Given the description of an element on the screen output the (x, y) to click on. 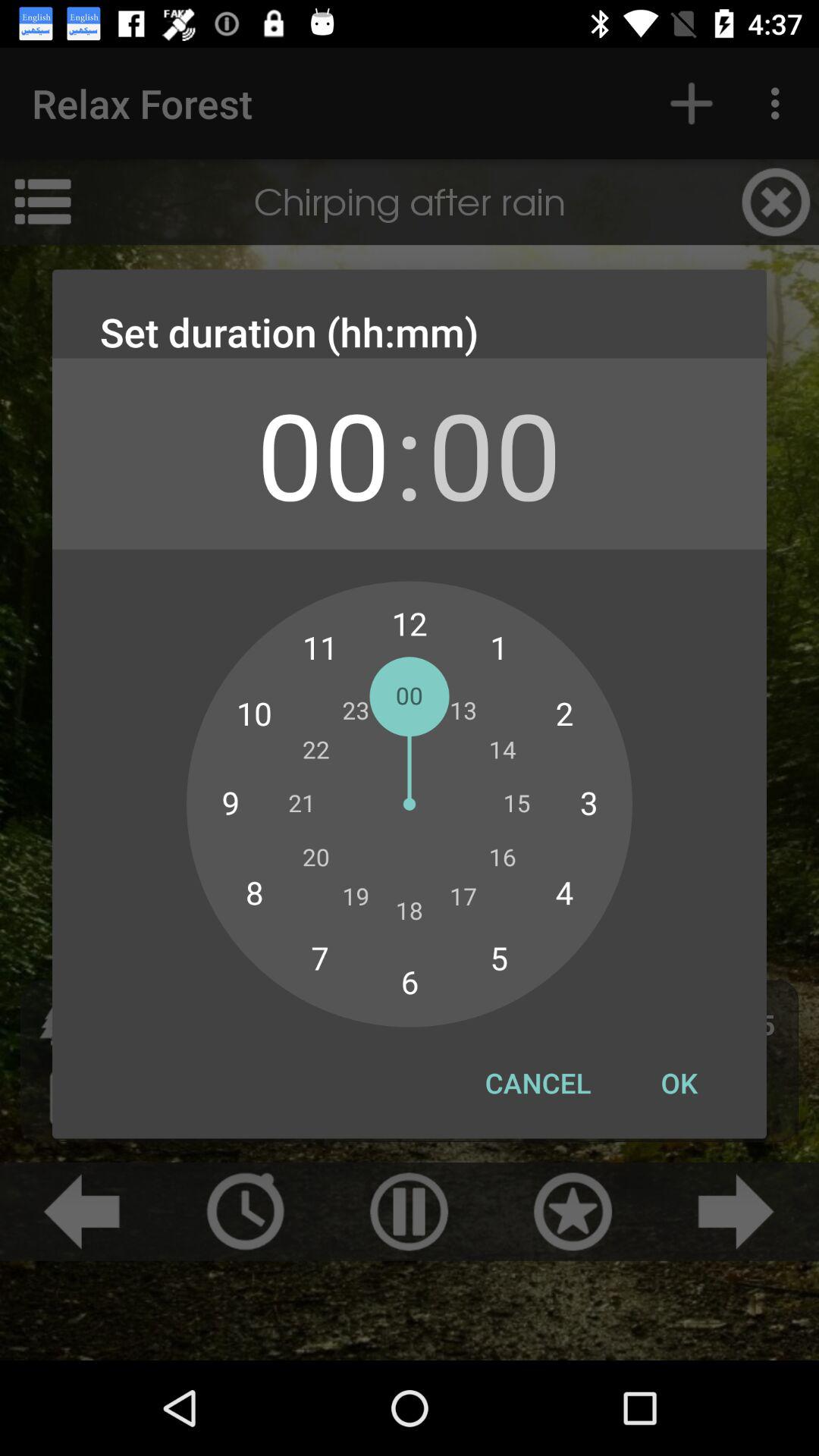
press button next to ok item (538, 1082)
